Given the description of an element on the screen output the (x, y) to click on. 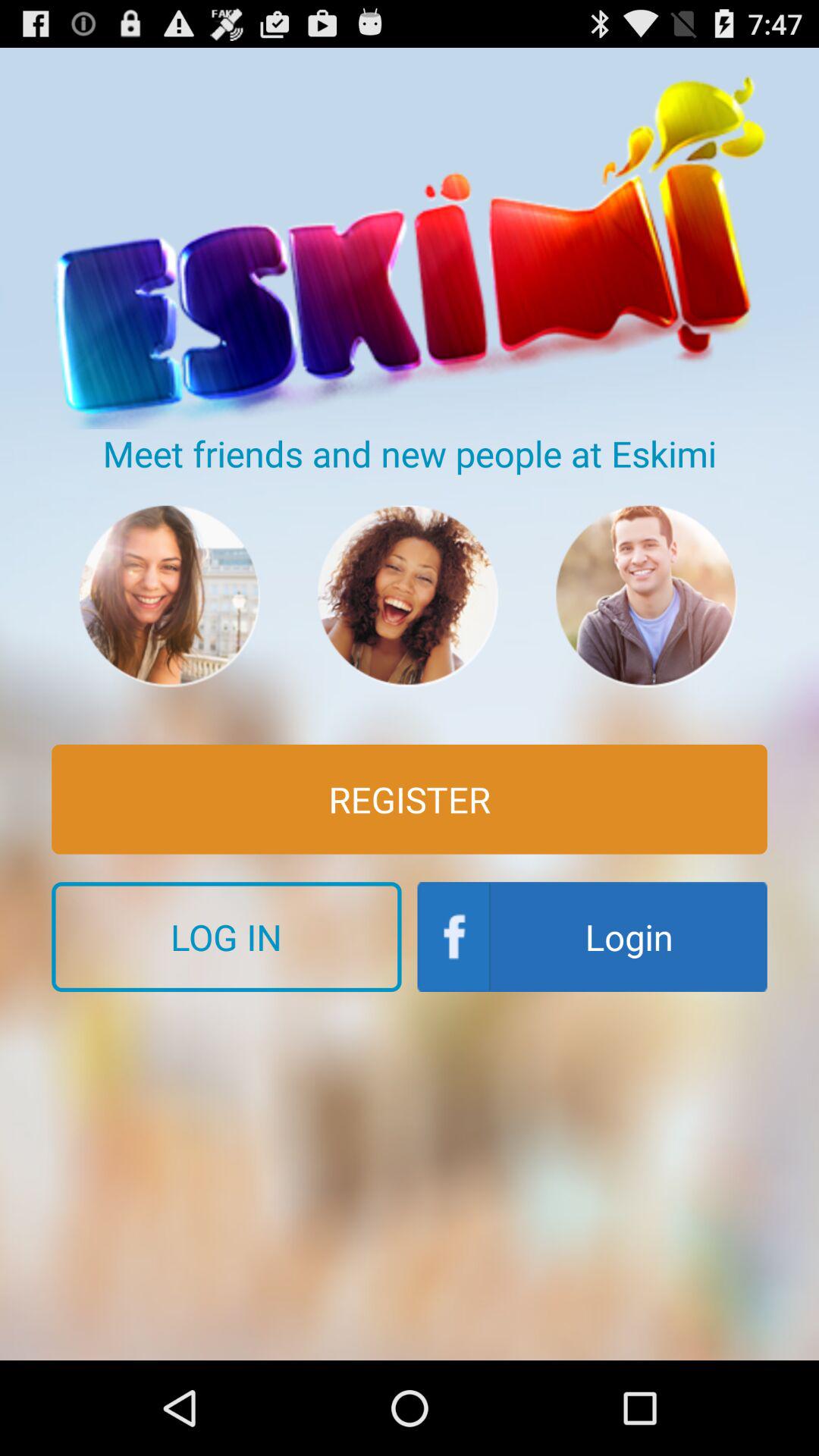
swipe until login (592, 936)
